Given the description of an element on the screen output the (x, y) to click on. 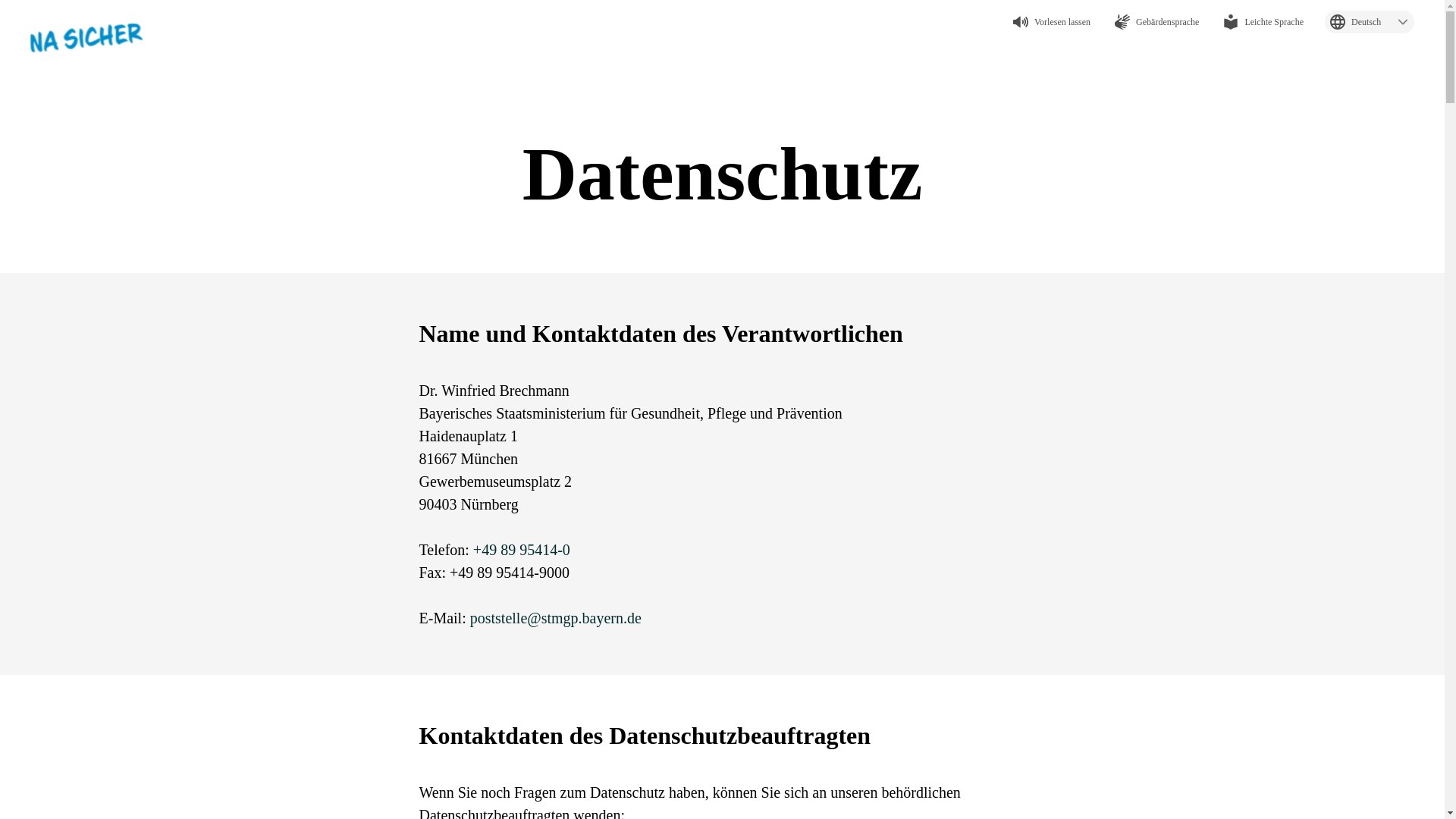
+49 89 95414-0 Element type: text (521, 549)
Vorlesen lassen Element type: text (1051, 21)
Deutsch Element type: text (1369, 21)
poststelle@stmgp.bayern.de Element type: text (555, 617)
Leichte Sprache Element type: text (1263, 21)
